Given the description of an element on the screen output the (x, y) to click on. 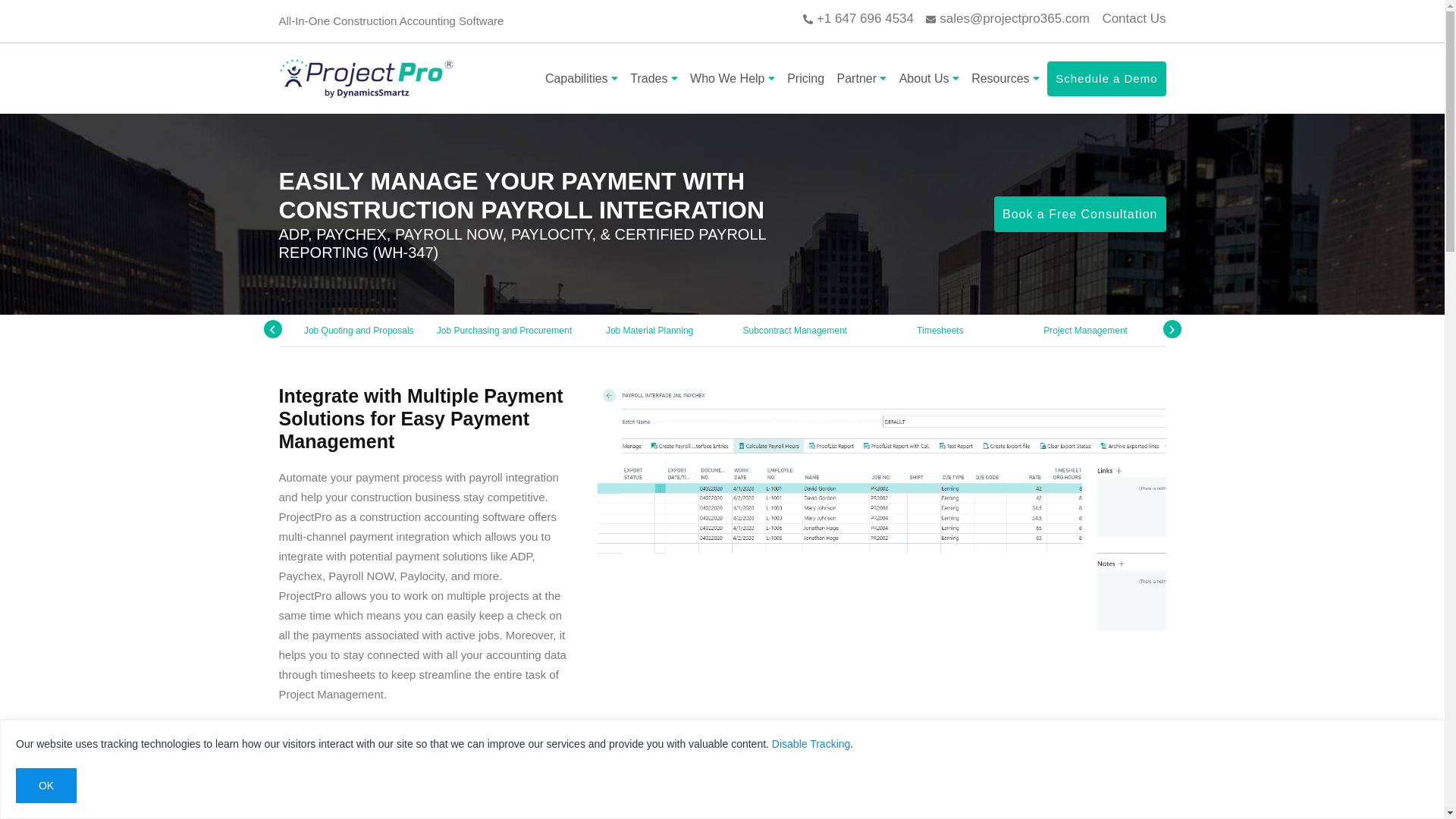
Capabilities (580, 78)
OK (46, 785)
Contact Us (1134, 18)
